Given the description of an element on the screen output the (x, y) to click on. 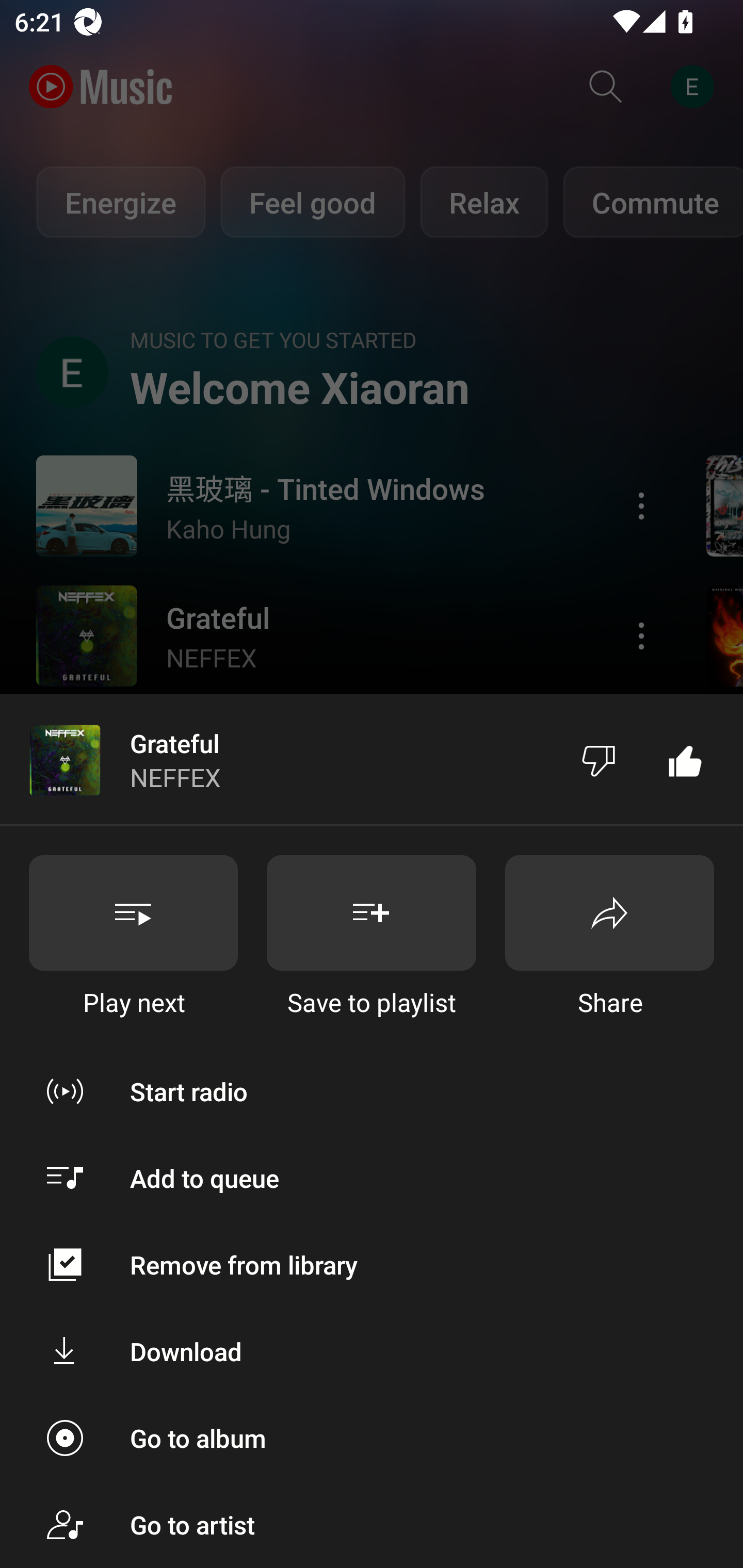
Dislike (598, 759)
Undo like (684, 759)
Start radio (371, 1091)
Add to queue (371, 1178)
Remove from library (371, 1264)
Download (371, 1350)
Go to album (371, 1437)
Go to artist (371, 1524)
